Given the description of an element on the screen output the (x, y) to click on. 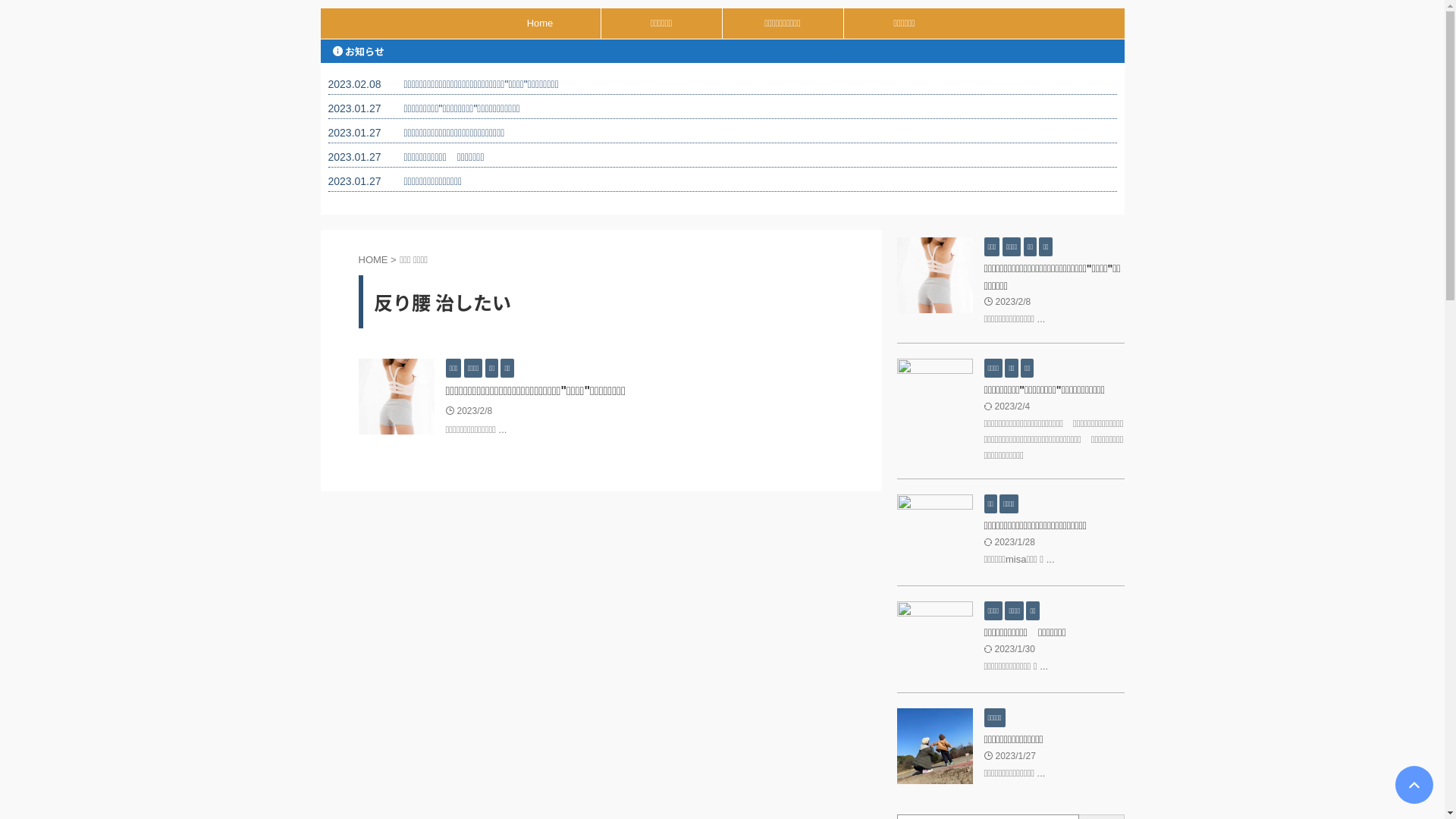
HOME Element type: text (372, 259)
Home Element type: text (539, 23)
